Given the description of an element on the screen output the (x, y) to click on. 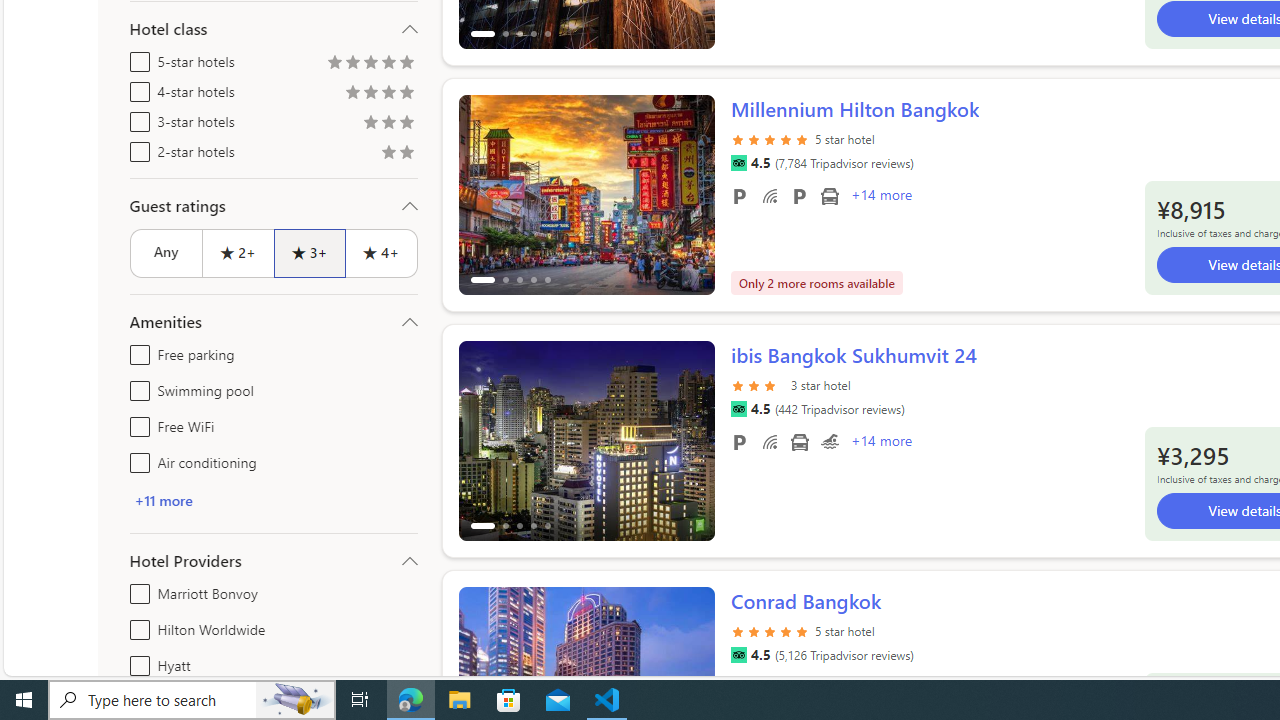
Free parking (738, 441)
Valet parking (798, 196)
ScrollRight (690, 678)
Hotel class (273, 29)
Tripadvisor (738, 655)
4+ (381, 252)
Hotel Providers (273, 560)
Slide 1 (586, 440)
Free parking (136, 350)
Airport transportation (798, 441)
ScrollLeft (482, 678)
3+ (308, 252)
Air conditioning (136, 458)
Amenities (273, 321)
Guest ratings (273, 205)
